Given the description of an element on the screen output the (x, y) to click on. 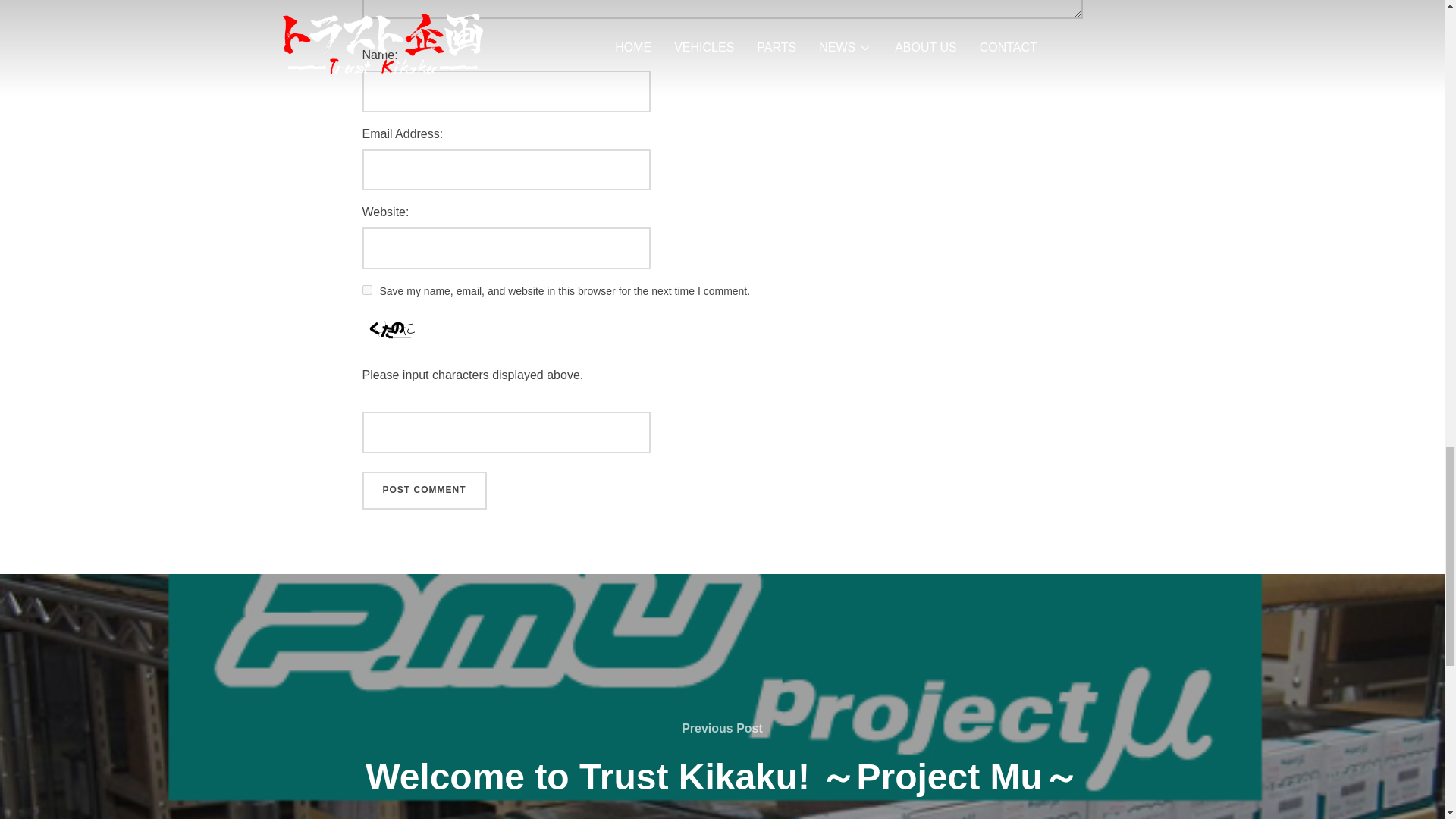
Post Comment (424, 490)
yes (367, 289)
Post Comment (424, 490)
